Given the description of an element on the screen output the (x, y) to click on. 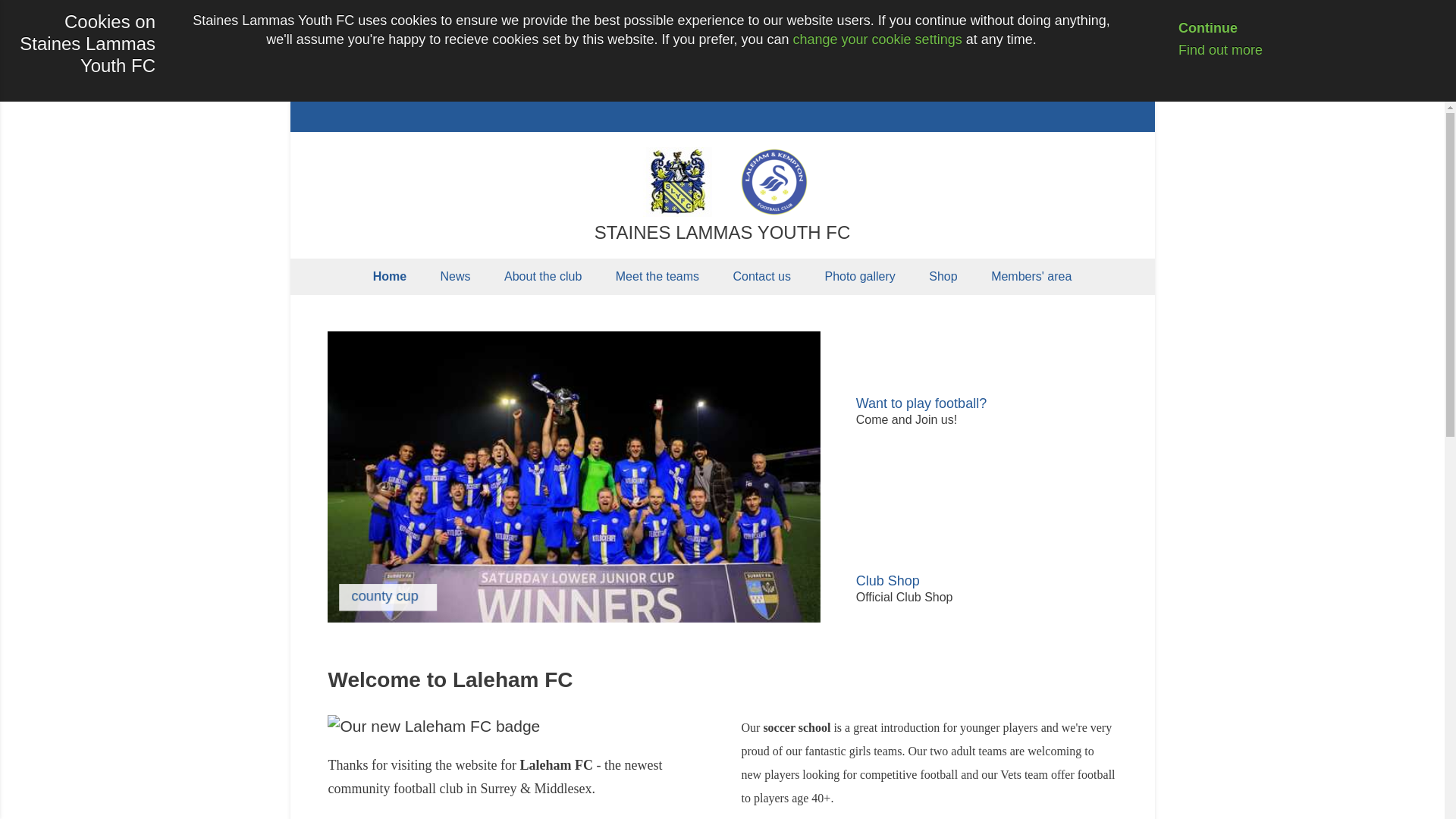
About the club (542, 276)
Find out more (1208, 49)
Home (390, 276)
change your cookie settings (877, 38)
Continue (1195, 28)
News (455, 276)
